Given the description of an element on the screen output the (x, y) to click on. 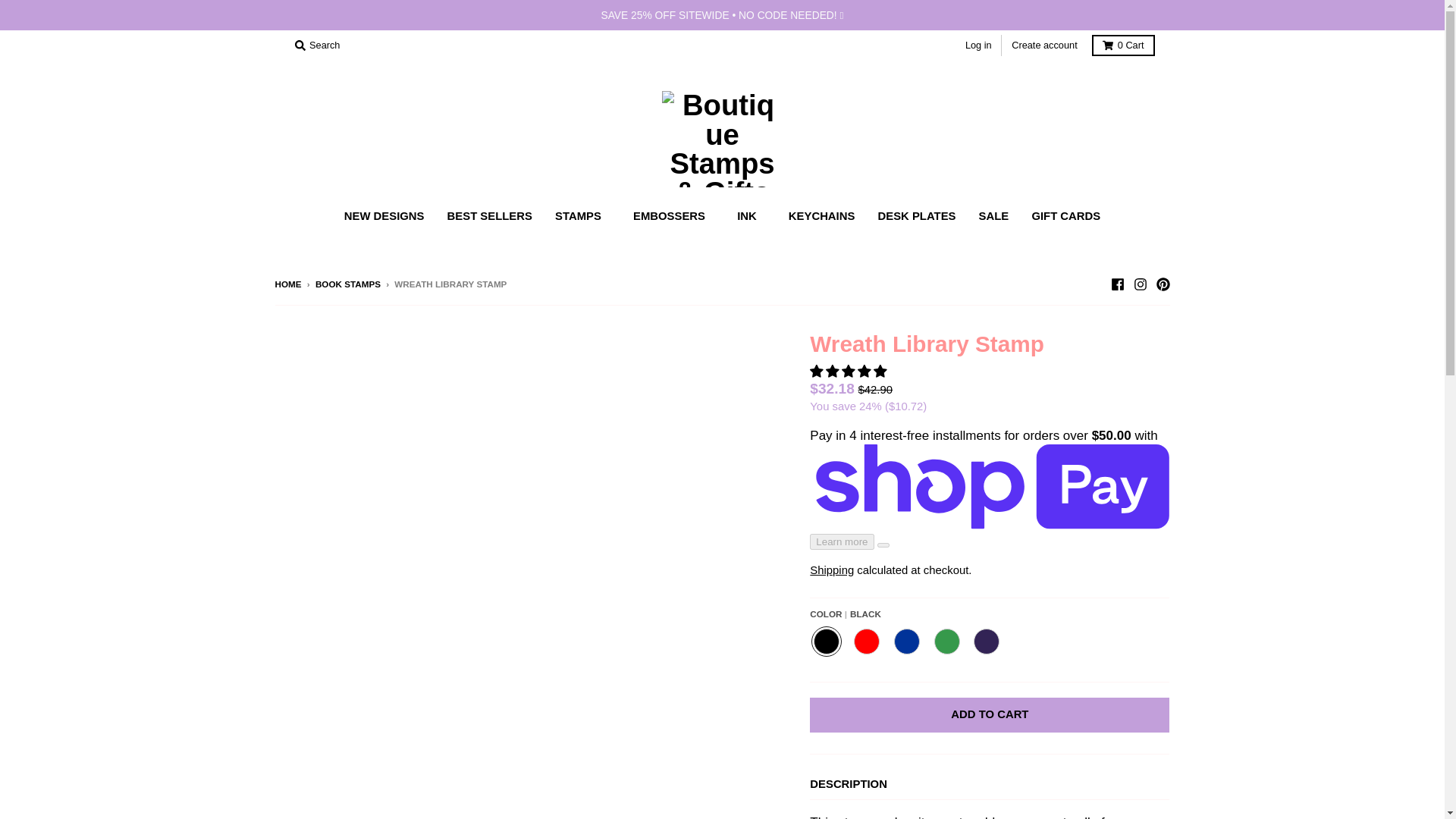
Violet (986, 641)
Log in (977, 45)
STAMPS (582, 216)
BEST SELLERS (489, 216)
Green (946, 641)
NEW DESIGNS (383, 216)
Blue (906, 641)
INK (751, 216)
Red (866, 641)
DESK PLATES (916, 216)
Create account (1044, 45)
KEYCHAINS (821, 216)
GIFT CARDS (1065, 216)
